Given the description of an element on the screen output the (x, y) to click on. 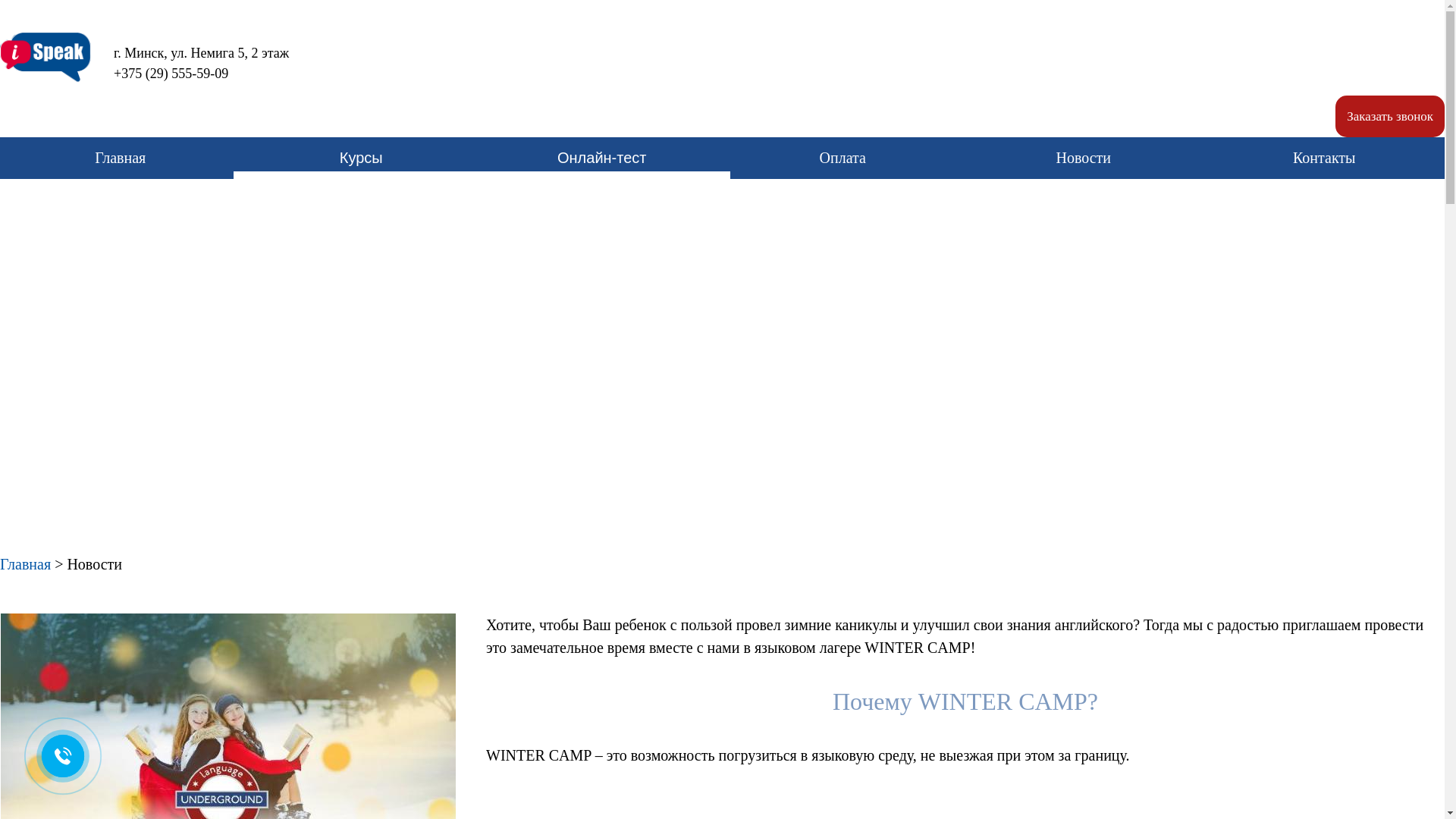
+375 (29) 555-59-09 Element type: text (159, 73)
